Given the description of an element on the screen output the (x, y) to click on. 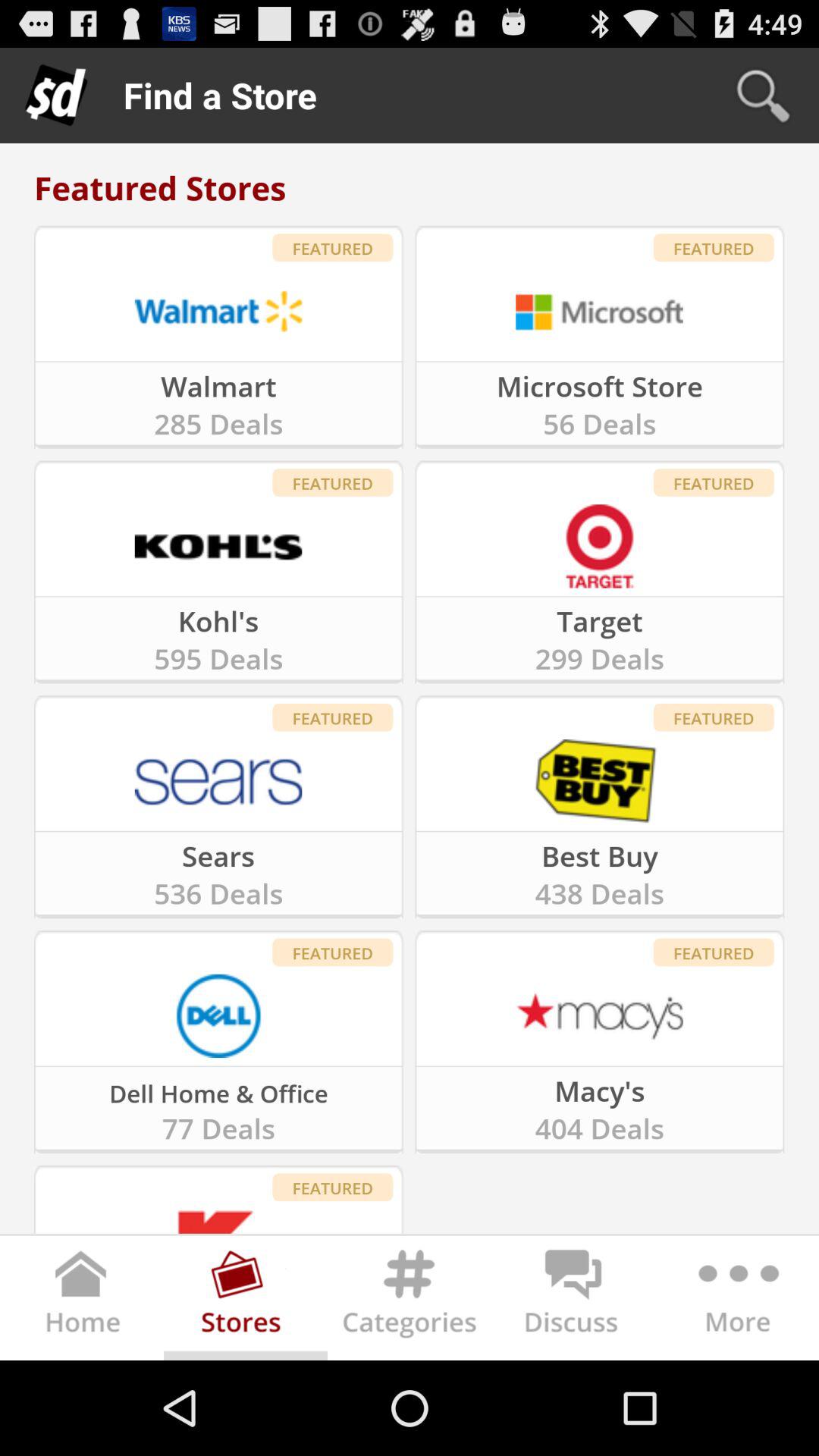
show more options (736, 1300)
